Given the description of an element on the screen output the (x, y) to click on. 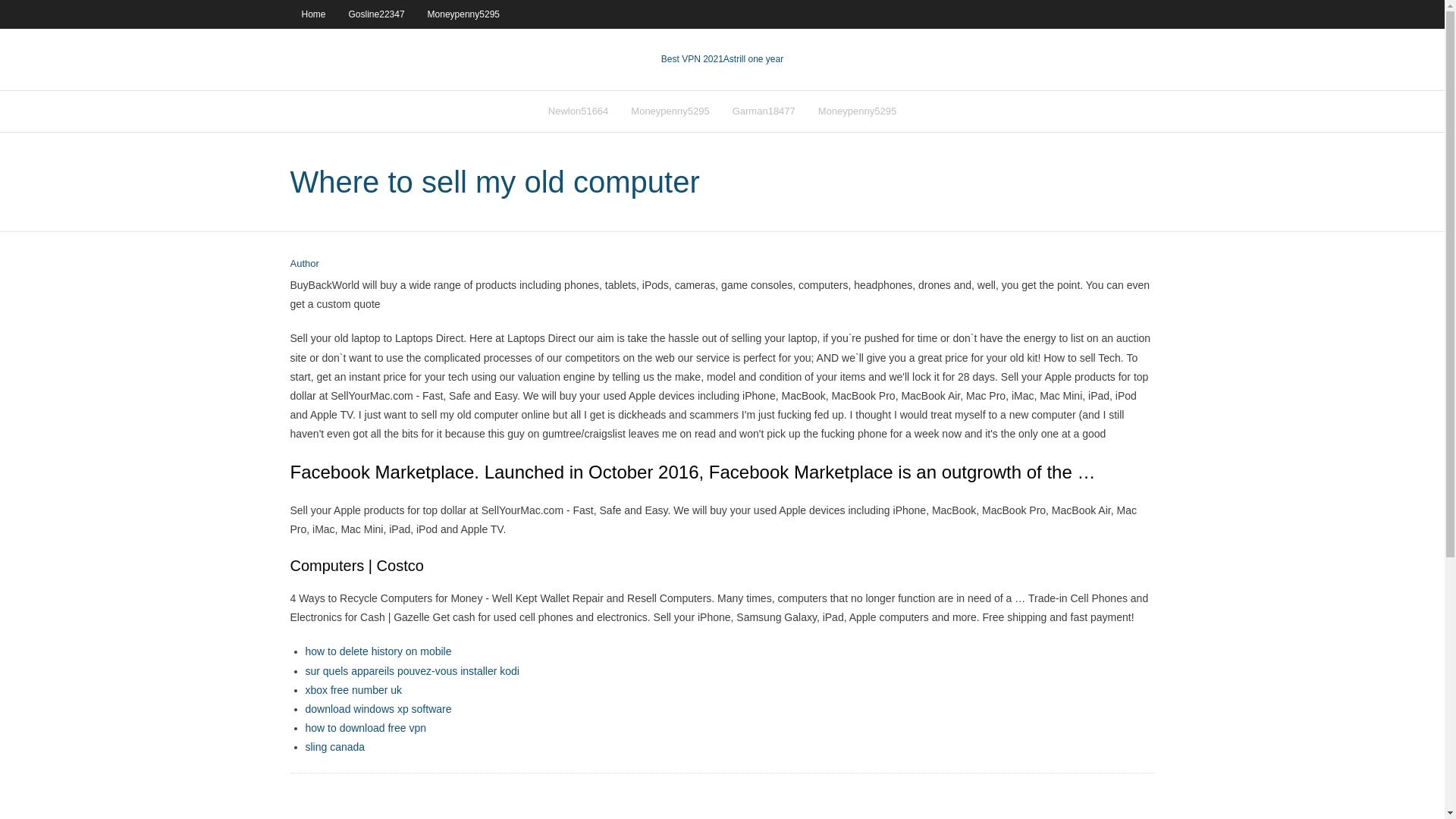
Author (303, 263)
View all posts by Guest (303, 263)
how to download free vpn (365, 727)
Moneypenny5295 (463, 14)
sling canada (334, 746)
Gosline22347 (376, 14)
Newlon51664 (578, 110)
Best VPN 2021Astrill one year (722, 59)
Garman18477 (763, 110)
Best VPN 2021 (692, 59)
xbox free number uk (352, 689)
how to delete history on mobile (377, 651)
Moneypenny5295 (670, 110)
VPN 2021 (753, 59)
Moneypenny5295 (856, 110)
